Given the description of an element on the screen output the (x, y) to click on. 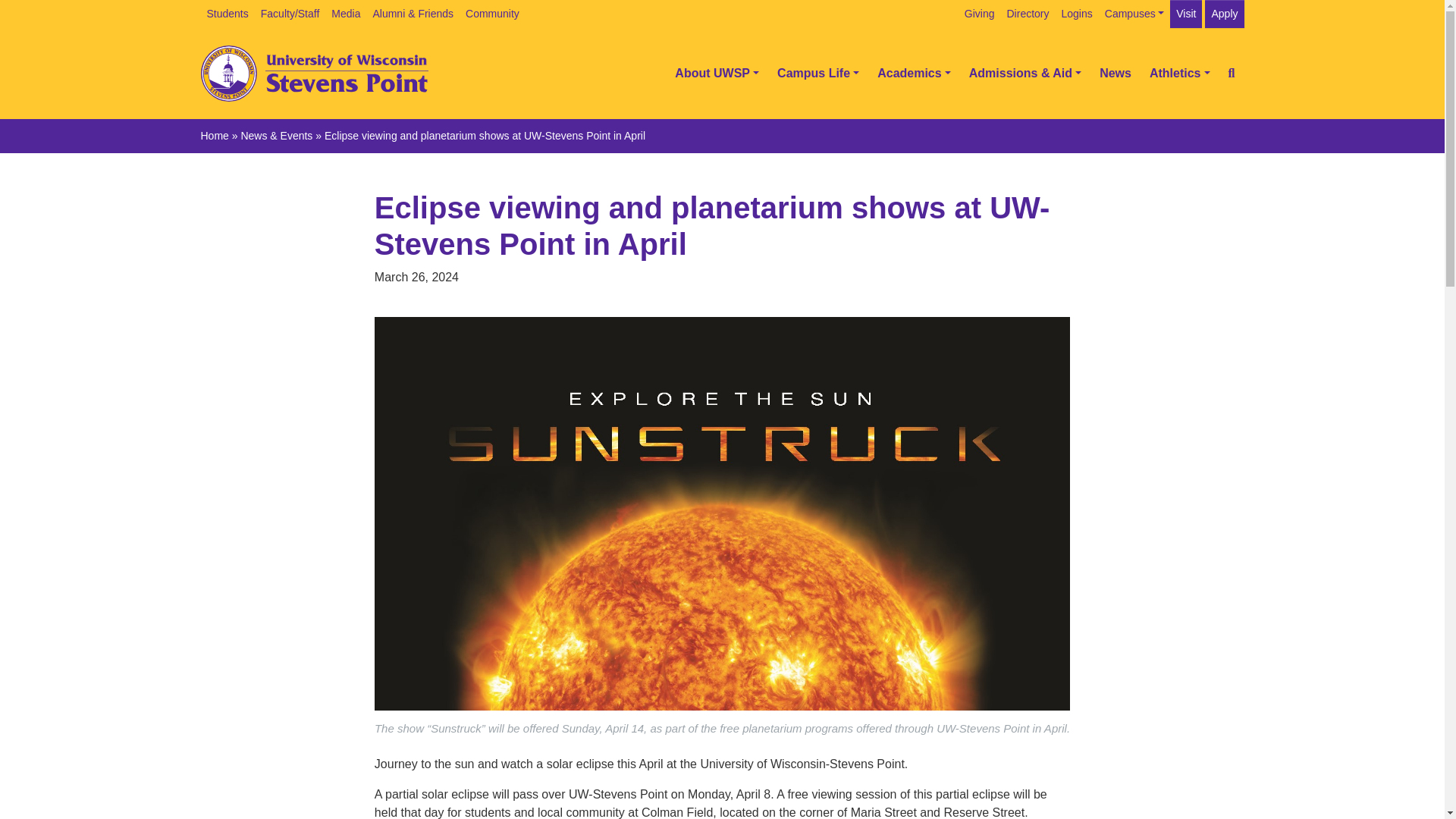
Media (345, 13)
Directory (1028, 13)
Visit (1186, 13)
Academics (913, 73)
Community (492, 13)
Giving (979, 13)
Students (226, 13)
About UWSP (716, 73)
Campus Life (817, 73)
Apply (1224, 13)
